Given the description of an element on the screen output the (x, y) to click on. 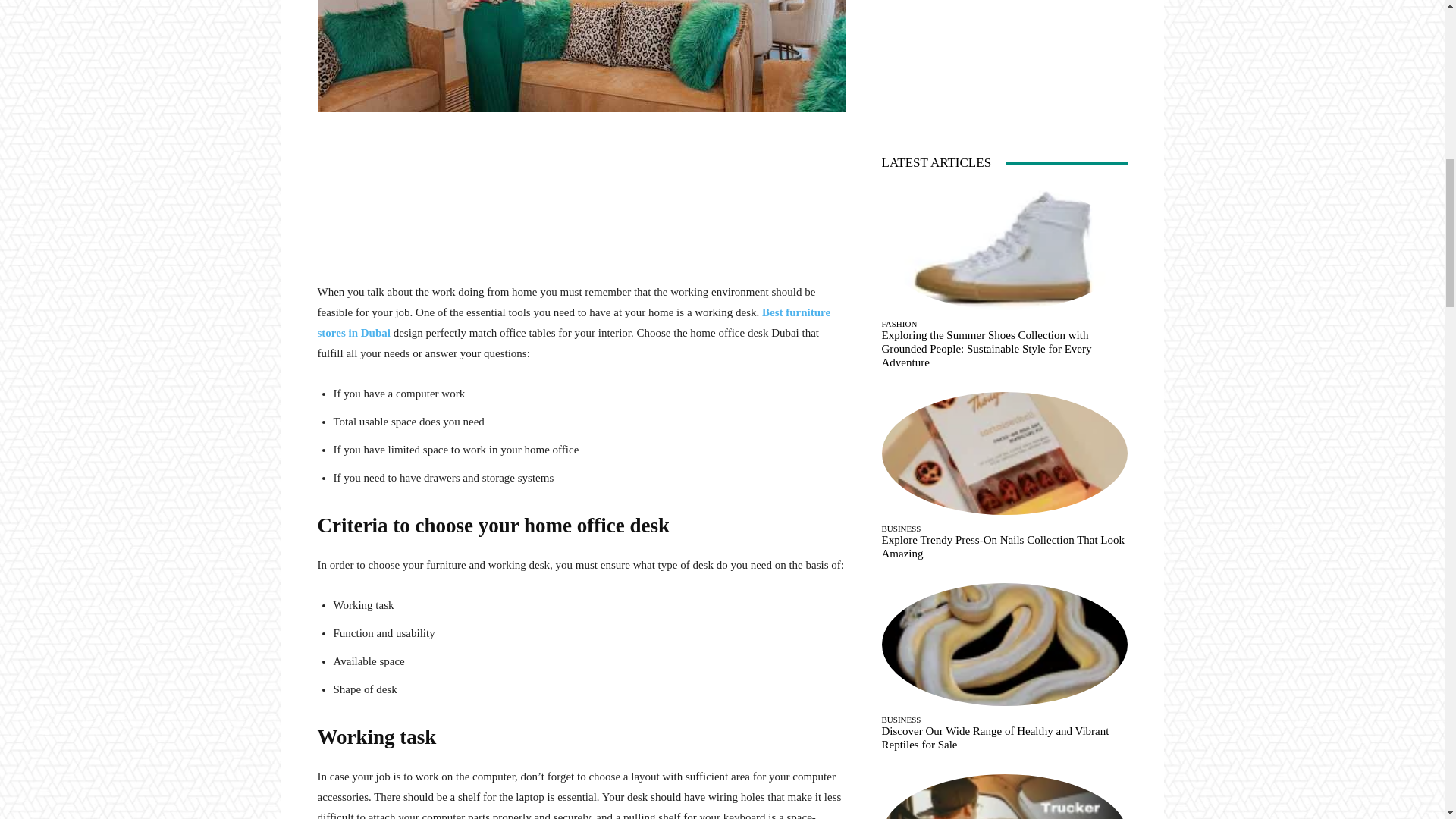
best furniture stores (580, 56)
